Given the description of an element on the screen output the (x, y) to click on. 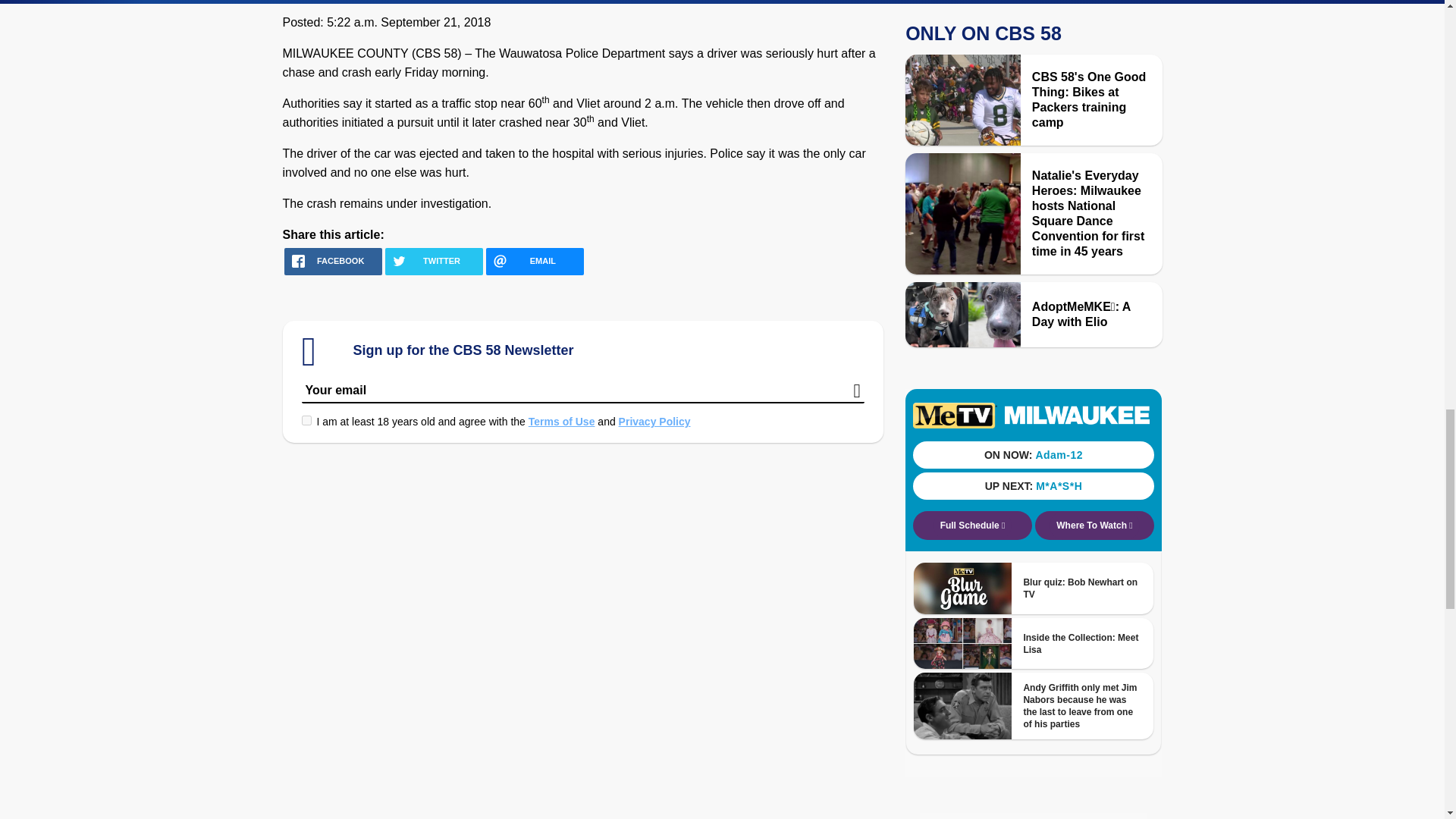
on (306, 420)
